Given the description of an element on the screen output the (x, y) to click on. 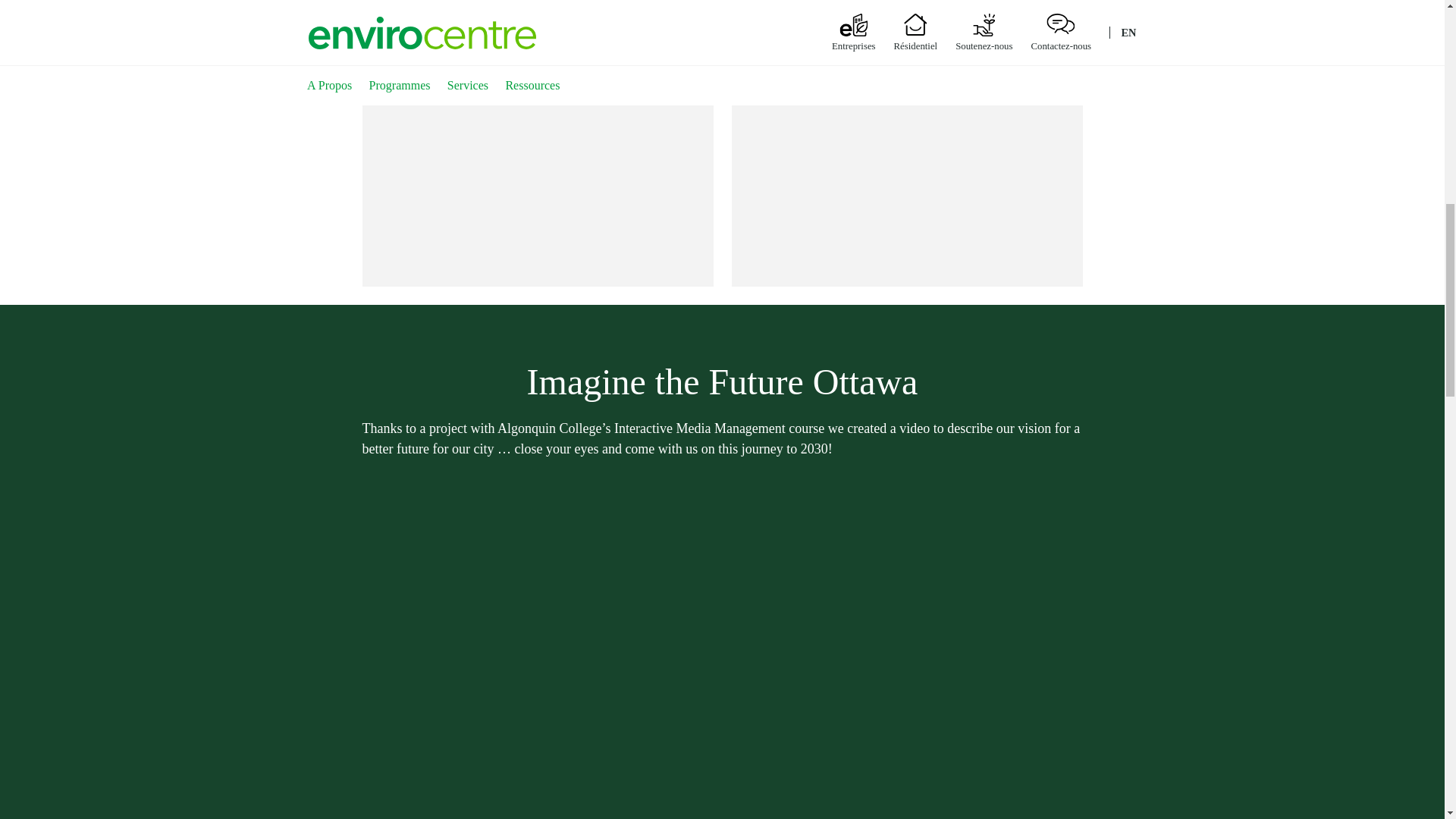
Why EnviroCentre Loves Bus Drivers! (537, 178)
